Given the description of an element on the screen output the (x, y) to click on. 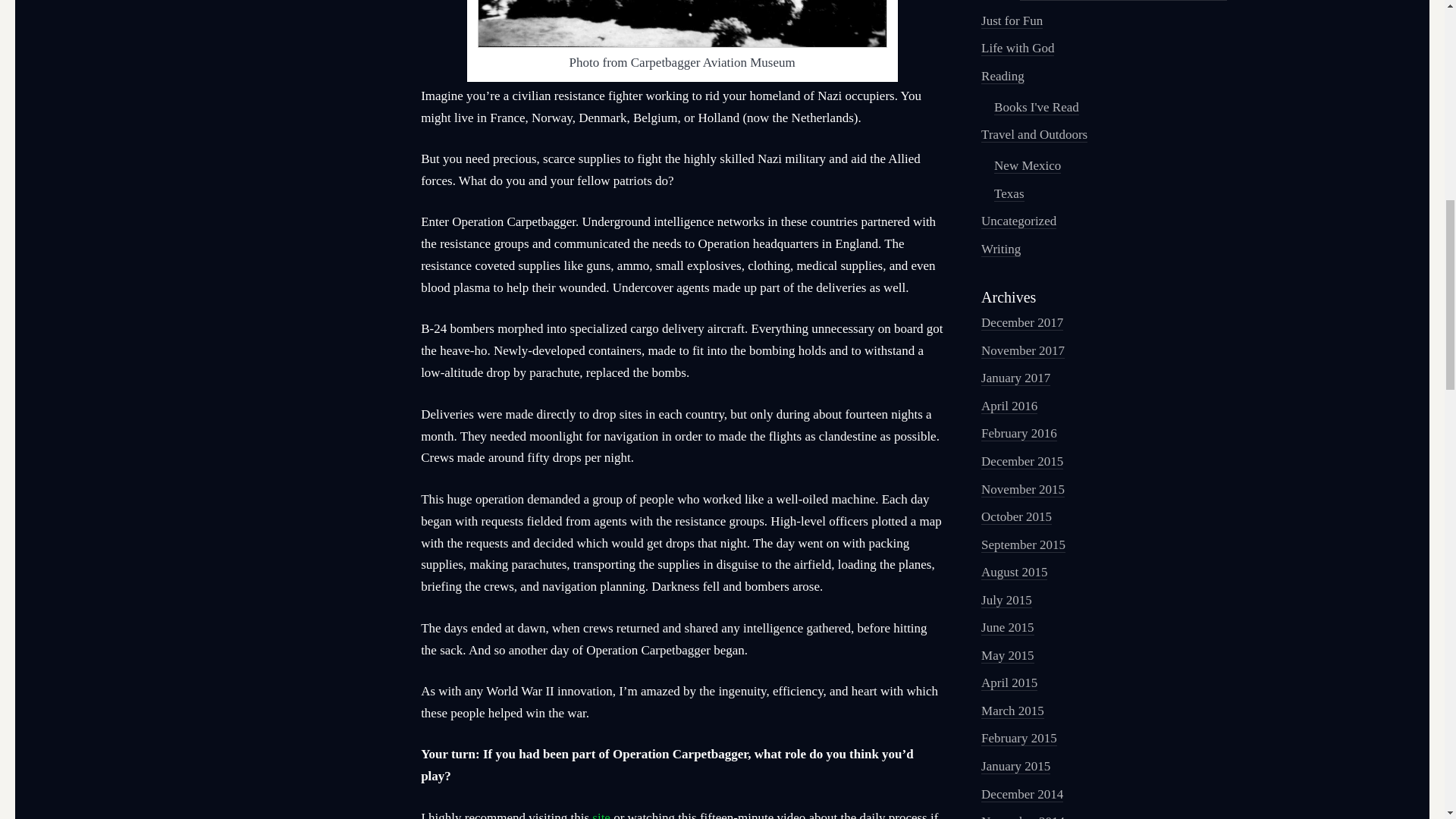
Uncategorized (1019, 221)
Reading (1003, 76)
Travel and Outdoors (1034, 134)
Texas (1008, 193)
Writing (1000, 249)
New Mexico (1027, 165)
December 2017 (1021, 322)
site (601, 814)
November 2017 (1022, 350)
Just for Fun (1011, 20)
Books I've Read (1036, 107)
Life with God (1017, 48)
